Given the description of an element on the screen output the (x, y) to click on. 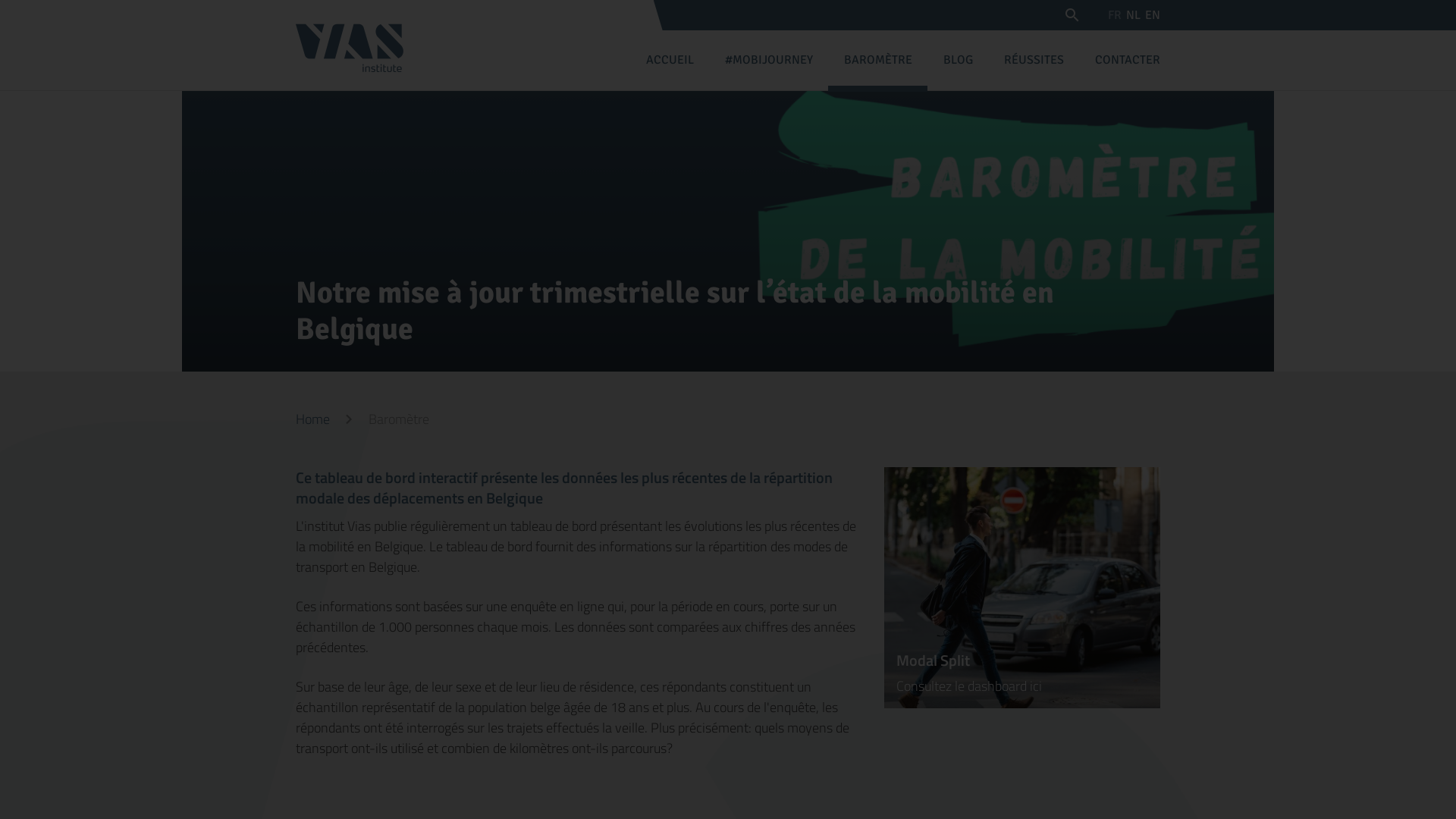
FR Element type: text (1114, 15)
BLOG Element type: text (957, 57)
NL Element type: text (1132, 15)
CONTACTER Element type: text (1127, 57)
EN Element type: text (1152, 15)
ACCUEIL Element type: text (669, 57)
Search Element type: hover (1077, 15)
Home Element type: text (312, 418)
#MOBIJOURNEY Element type: text (768, 57)
